Given the description of an element on the screen output the (x, y) to click on. 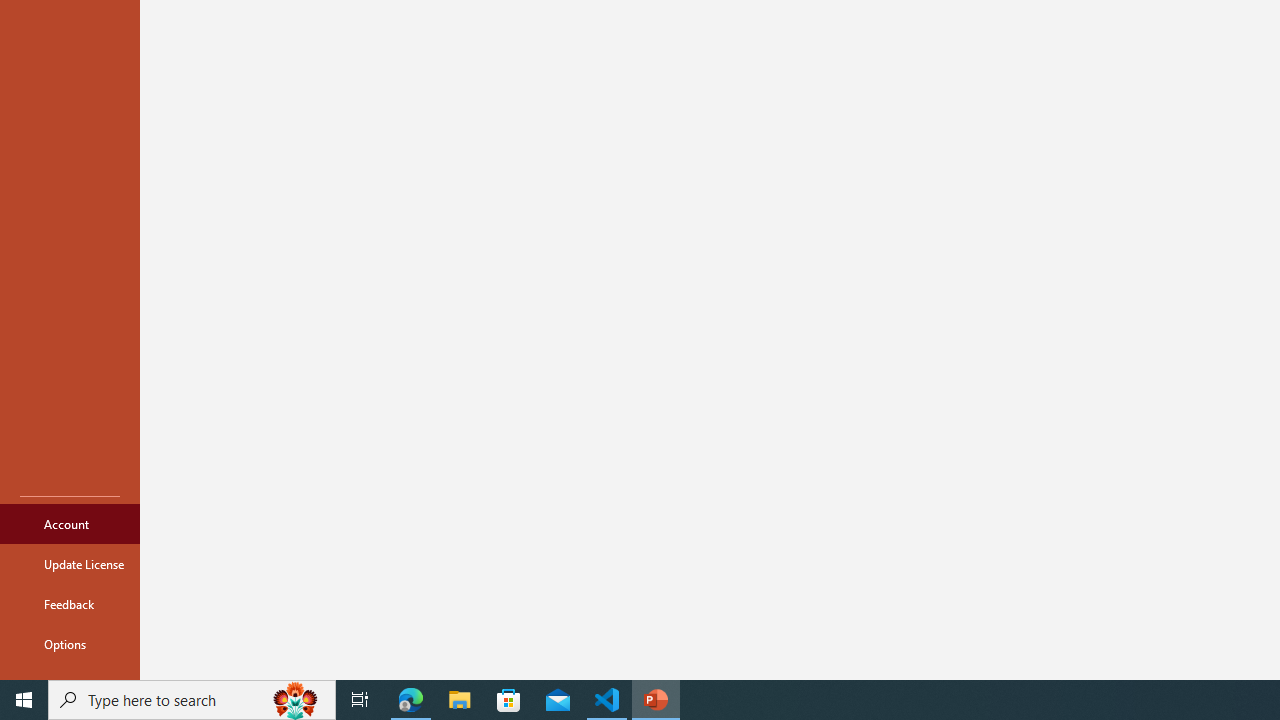
Update License (69, 563)
Feedback (69, 603)
Account (69, 523)
Options (69, 643)
